Given the description of an element on the screen output the (x, y) to click on. 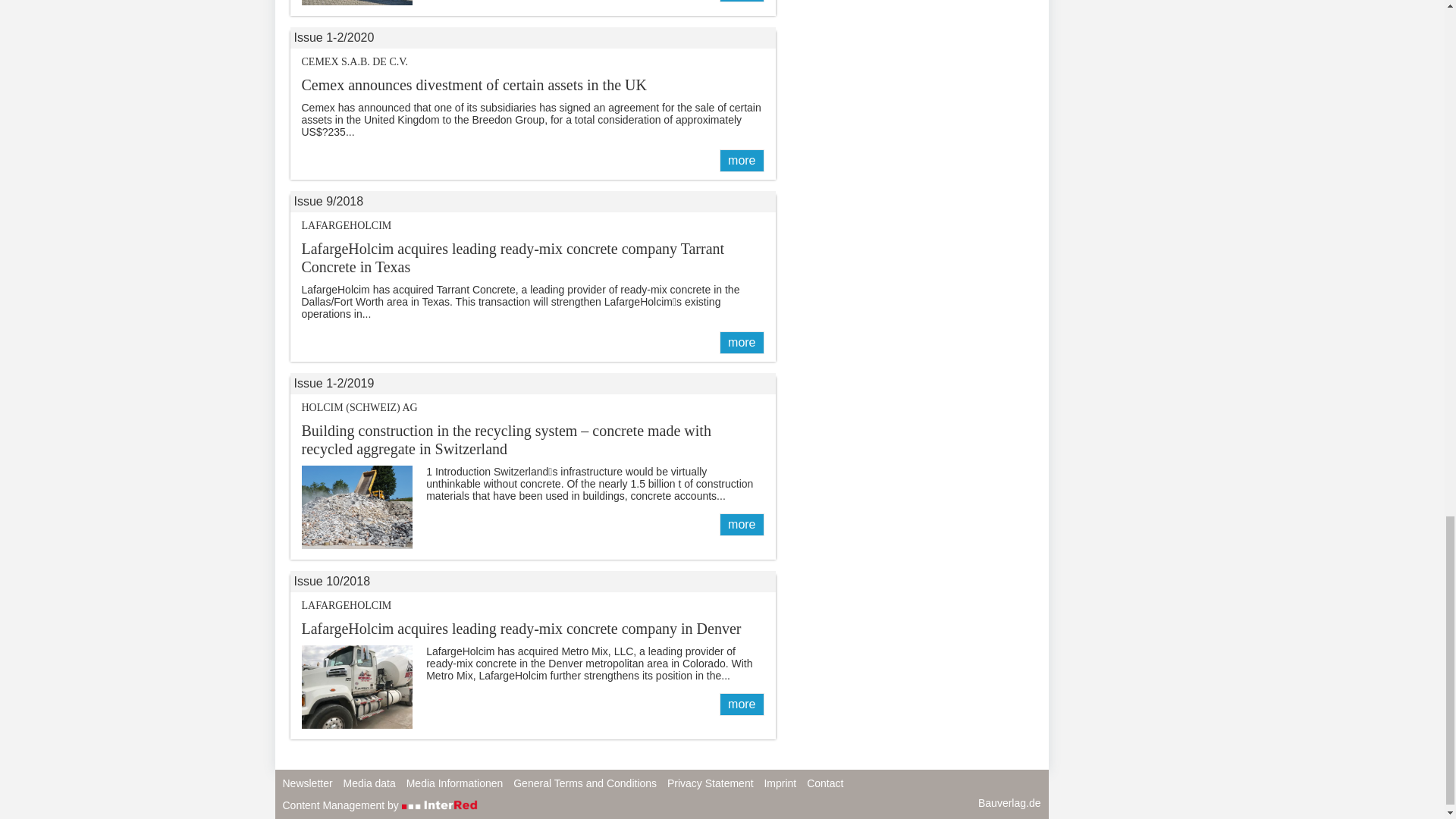
more (740, 1)
Cemex announces divestment of certain assets in the UK (740, 160)
